Given the description of an element on the screen output the (x, y) to click on. 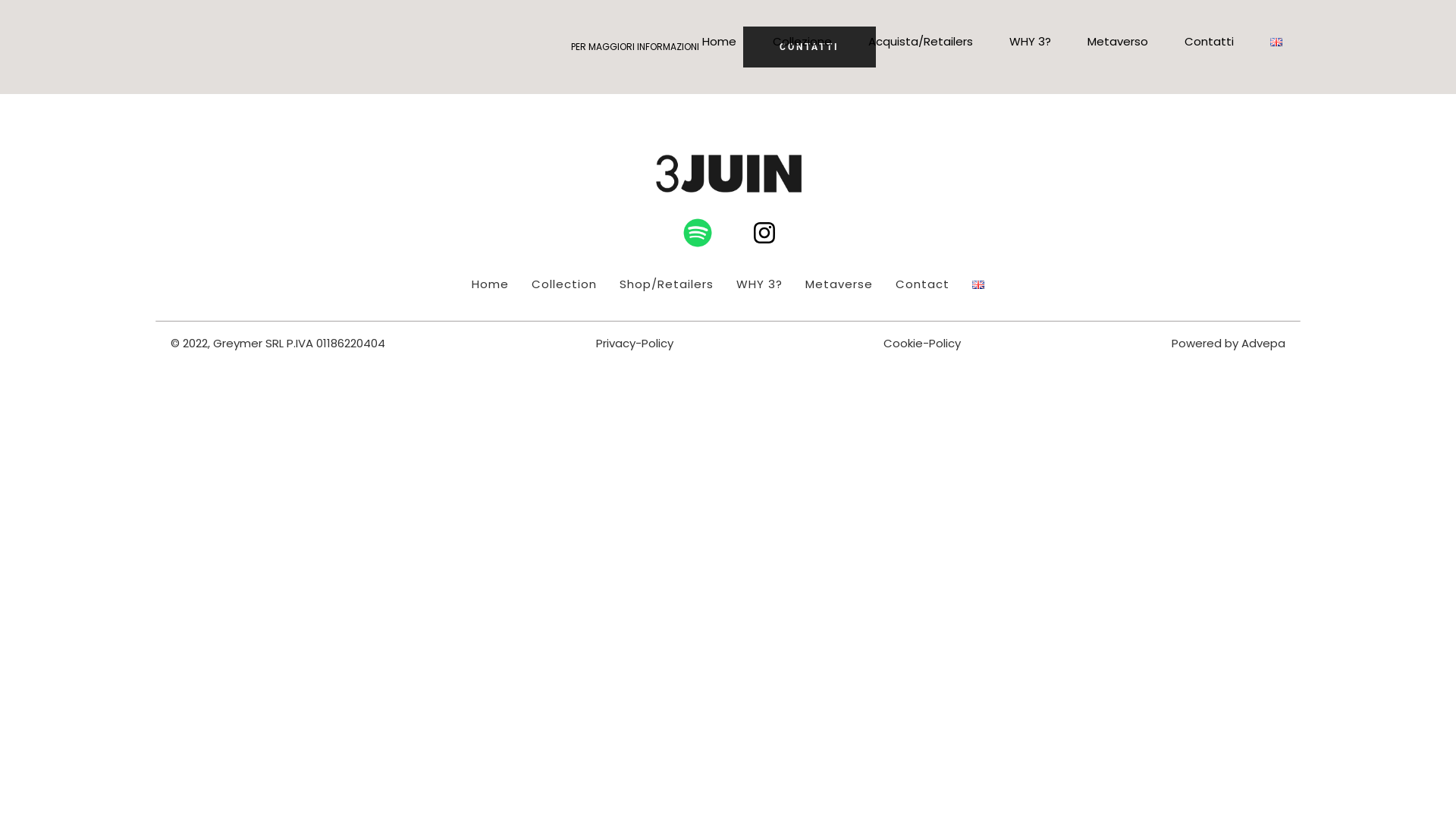
Contatti Element type: text (1209, 41)
Metaverso Element type: text (1117, 41)
Collezione Element type: text (802, 41)
Collection Element type: text (564, 284)
Shop/Retailers Element type: text (666, 284)
Acquista/Retailers Element type: text (920, 41)
Home Element type: text (490, 284)
Privacy-Policy Element type: text (634, 343)
Metaverse Element type: text (838, 284)
Cookie-Policy Element type: text (921, 343)
PER MAGGIORI INFORMAZIONI Element type: text (635, 46)
CONTATTI Element type: text (809, 46)
Powered by Advepa Element type: text (1228, 343)
Home Element type: text (719, 41)
Contact Element type: text (922, 284)
WHY 3? Element type: text (1030, 41)
WHY 3? Element type: text (758, 284)
